Given the description of an element on the screen output the (x, y) to click on. 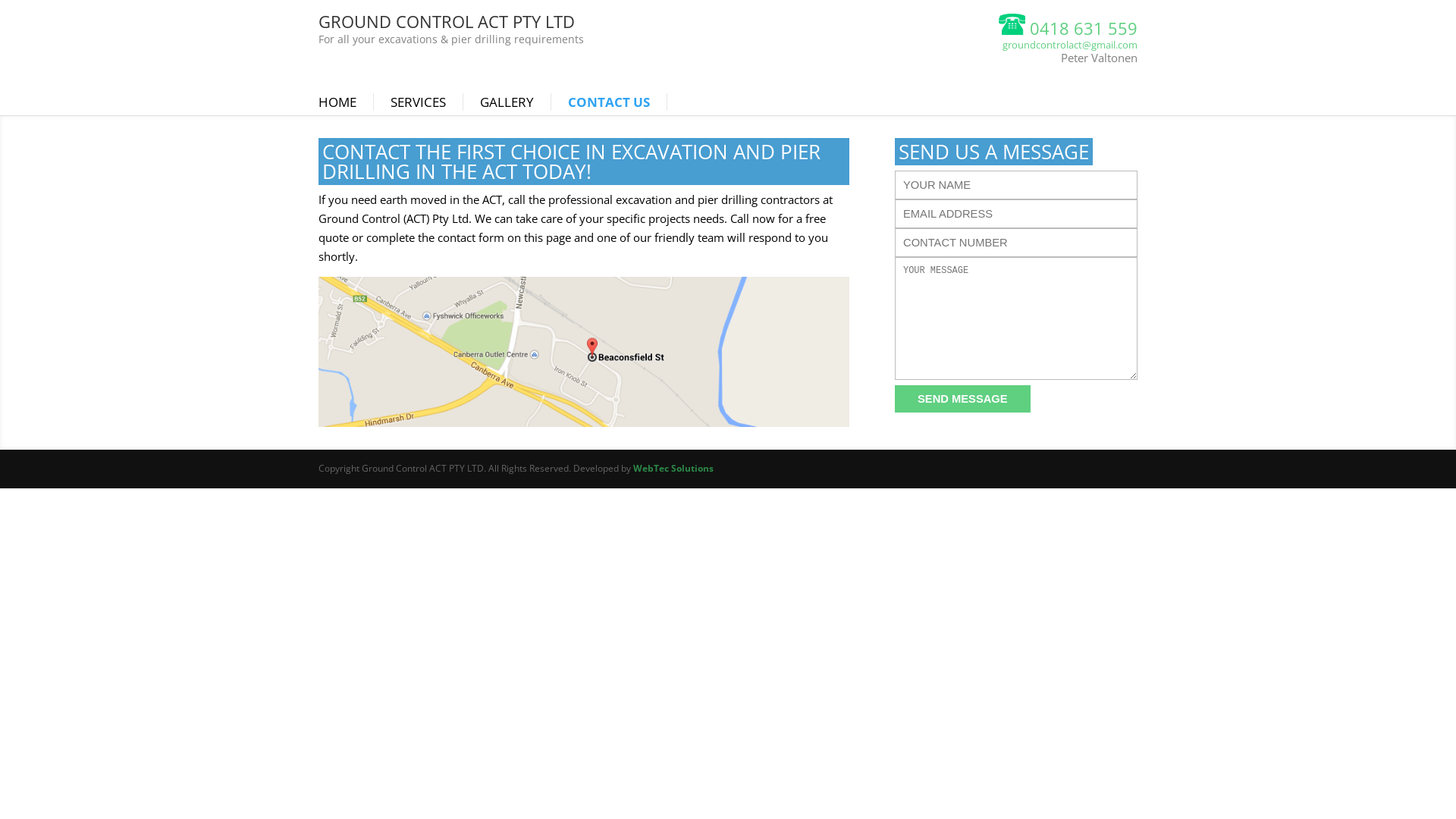
groundcontrolact@gmail.com Element type: text (1069, 44)
GALLERY Element type: text (515, 101)
CONTACT US Element type: text (617, 101)
SERVICES Element type: text (426, 101)
SEND MESSAGE Element type: text (962, 398)
WebTec Solutions Element type: text (673, 467)
HOME Element type: text (345, 101)
0418 631 559 Element type: text (1067, 27)
